Given the description of an element on the screen output the (x, y) to click on. 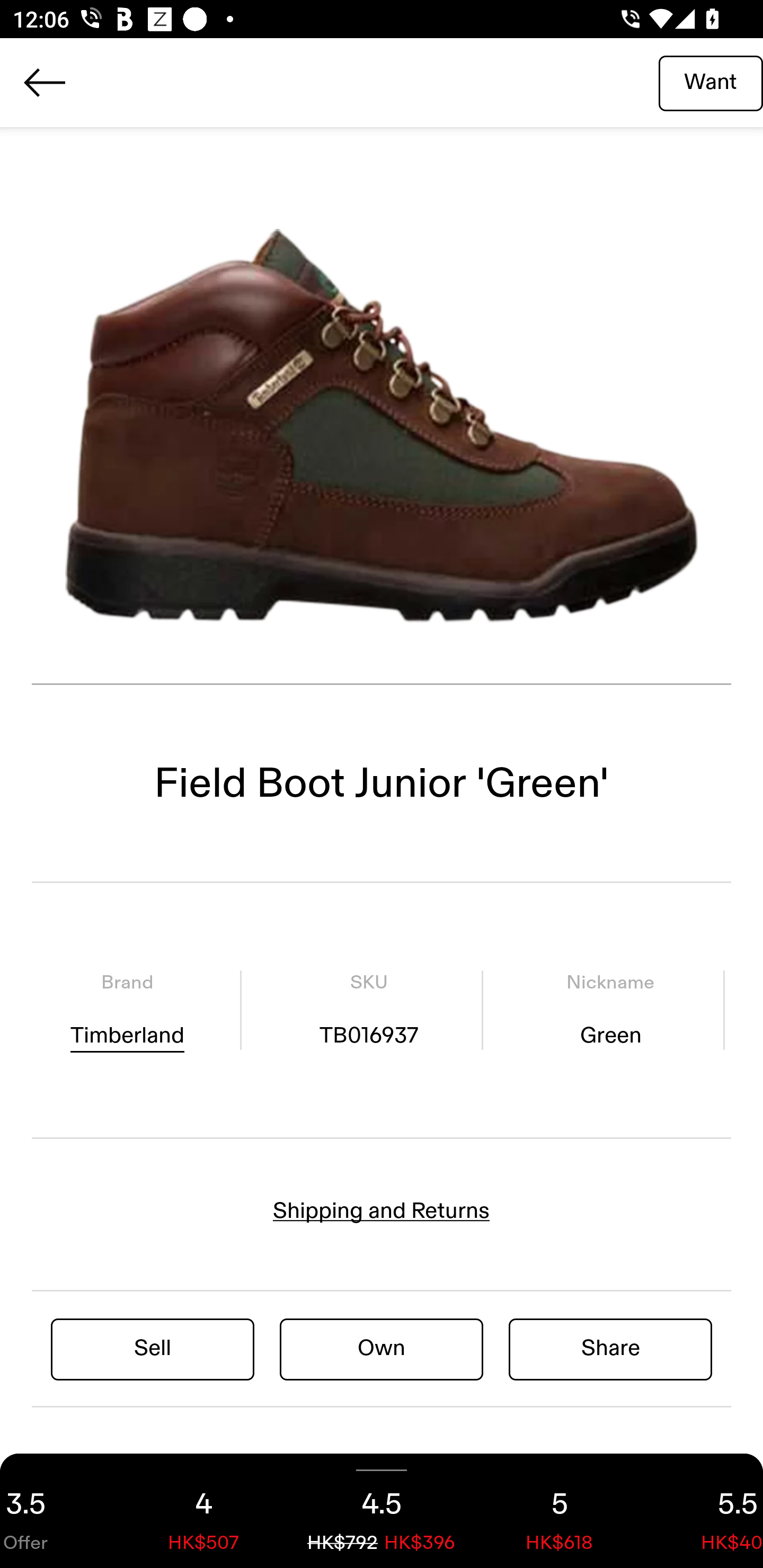
Want (710, 82)
Brand Timberland (126, 1009)
SKU TB016937 (368, 1009)
Nickname Green (609, 1009)
Shipping and Returns (381, 1211)
Sell (152, 1348)
Own (381, 1348)
Share (609, 1348)
3.5 Offer (57, 1510)
4 HK$507 (203, 1510)
4.5 HK$792 HK$396 (381, 1510)
5 HK$618 (559, 1510)
5.5 HK$404 (705, 1510)
